Given the description of an element on the screen output the (x, y) to click on. 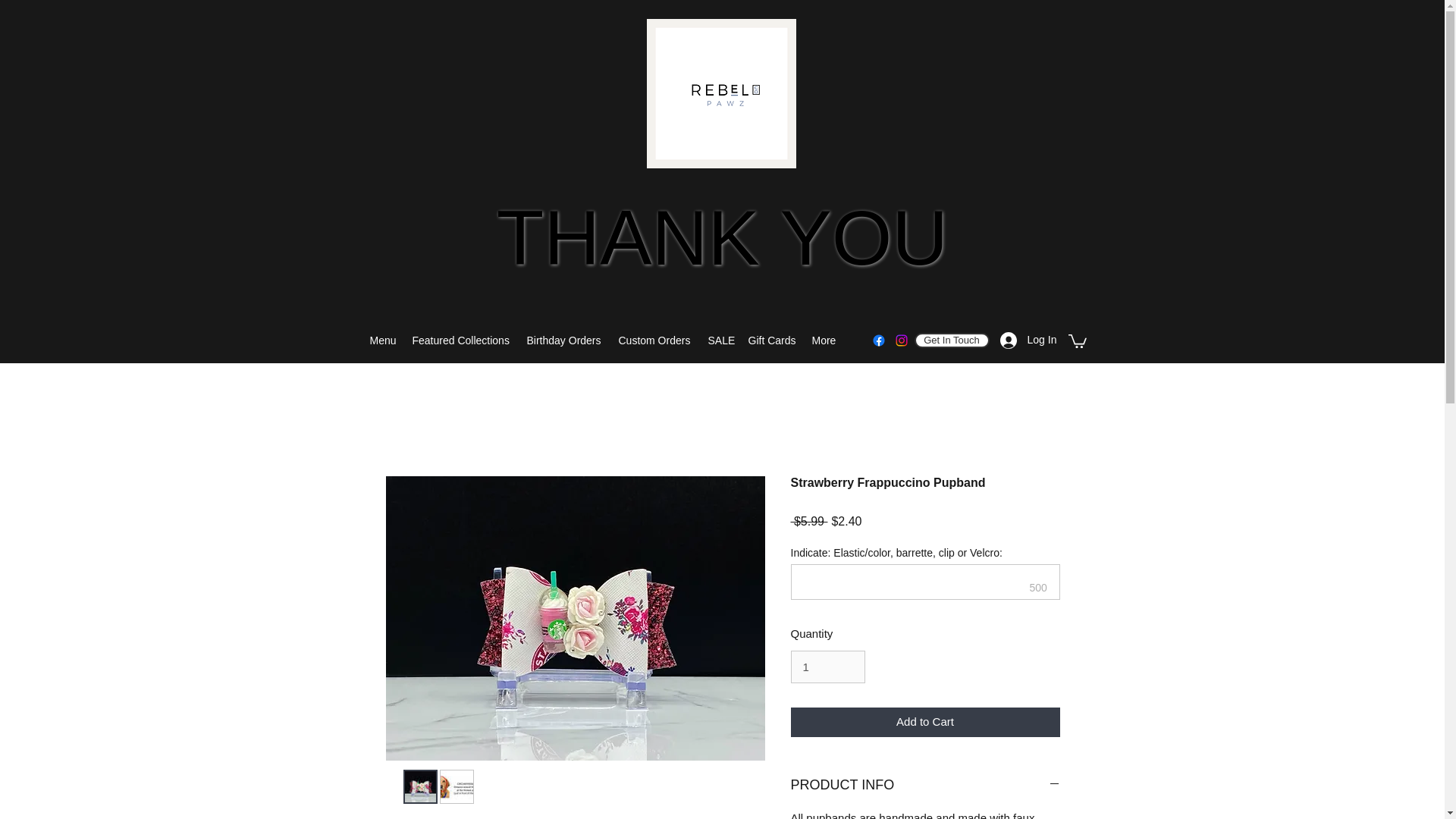
PRODUCT INFO (924, 785)
Get In Touch (952, 340)
Menu (383, 340)
Featured Collections (722, 241)
SALE (461, 340)
Add to Cart (720, 340)
Log In (924, 722)
Birthday Orders (1023, 339)
Custom Orders (564, 340)
1 (655, 340)
Gift Cards (827, 666)
